Given the description of an element on the screen output the (x, y) to click on. 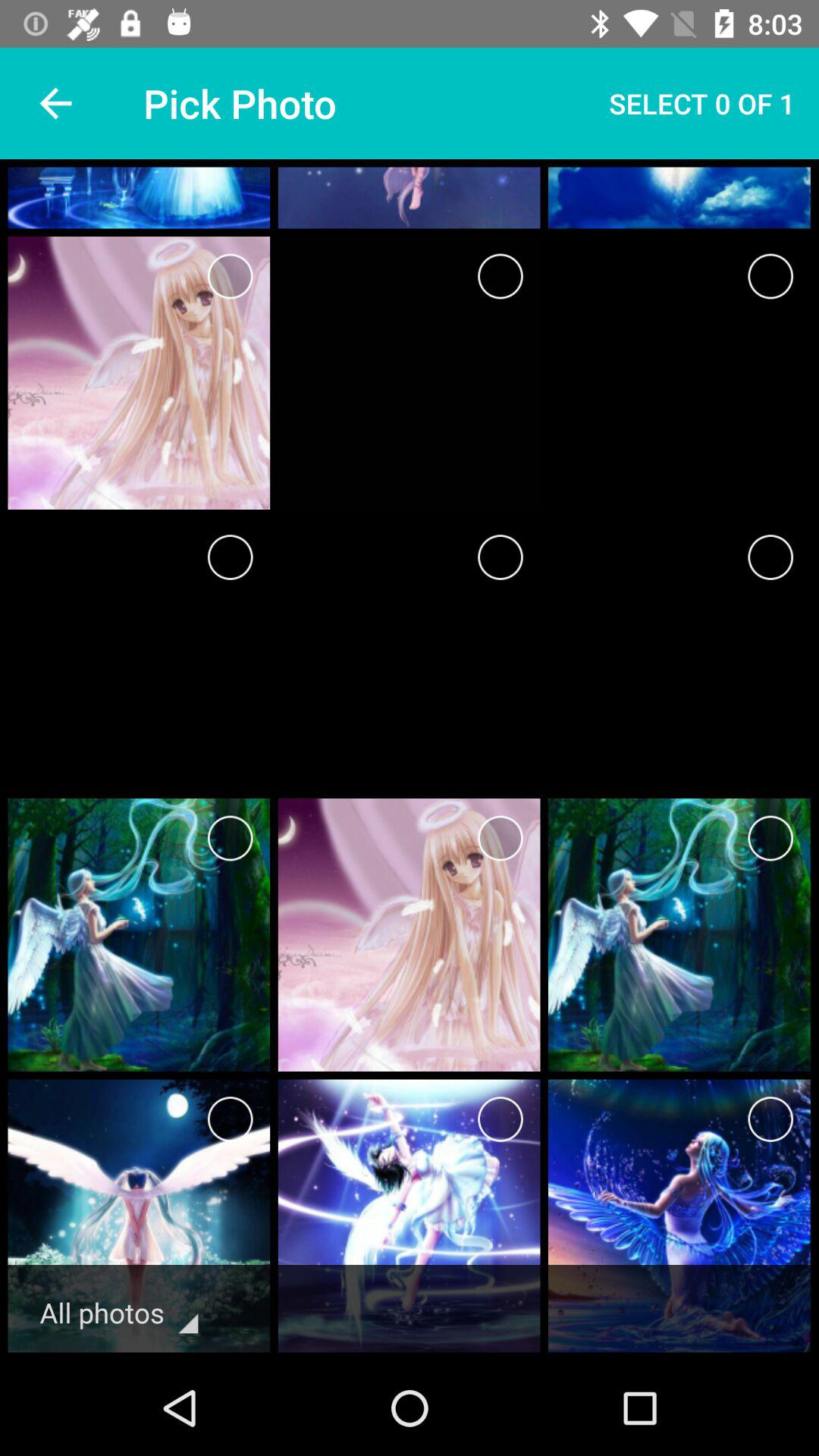
select image (500, 1119)
